Given the description of an element on the screen output the (x, y) to click on. 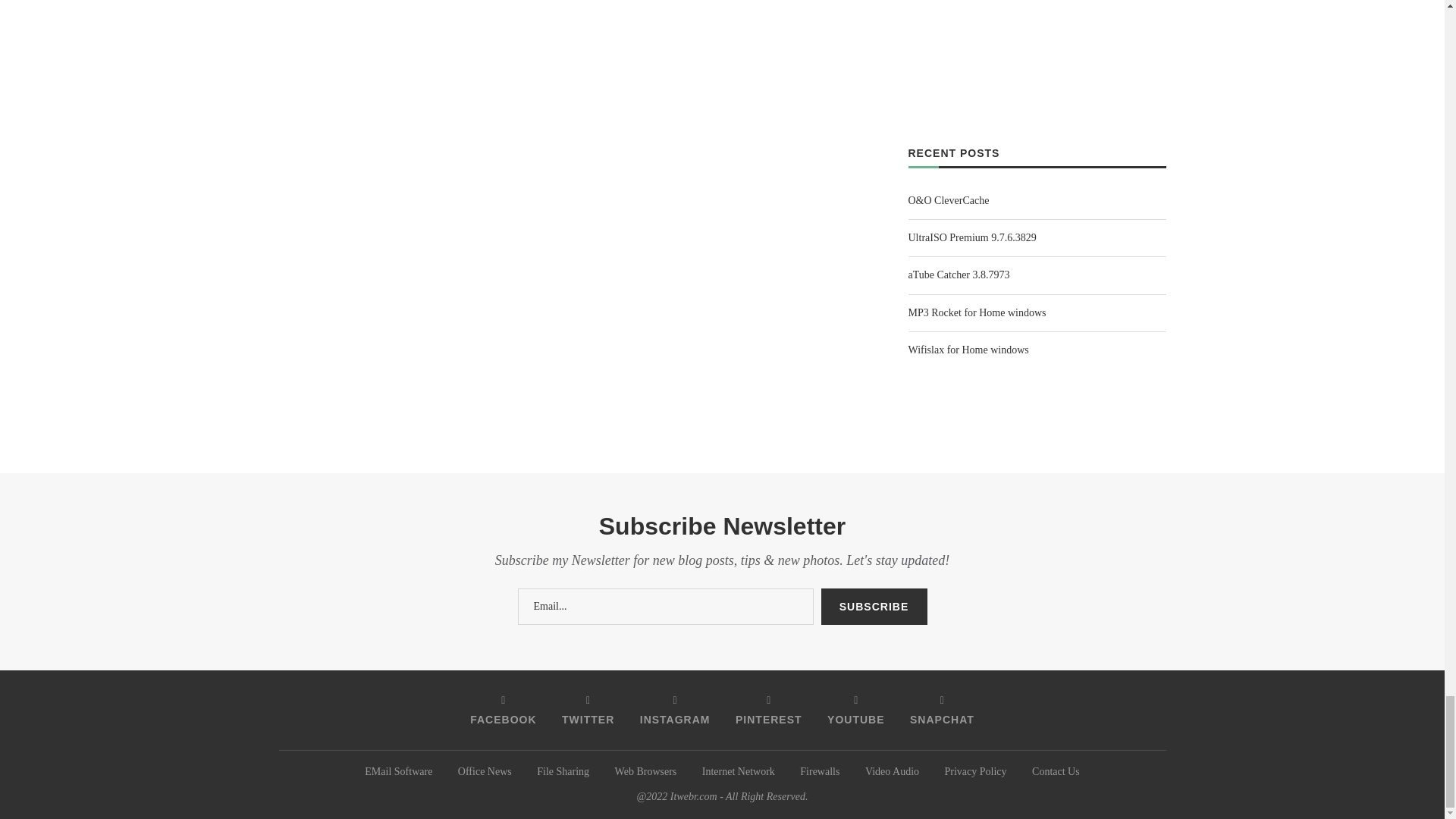
Subscribe (873, 606)
